Given the description of an element on the screen output the (x, y) to click on. 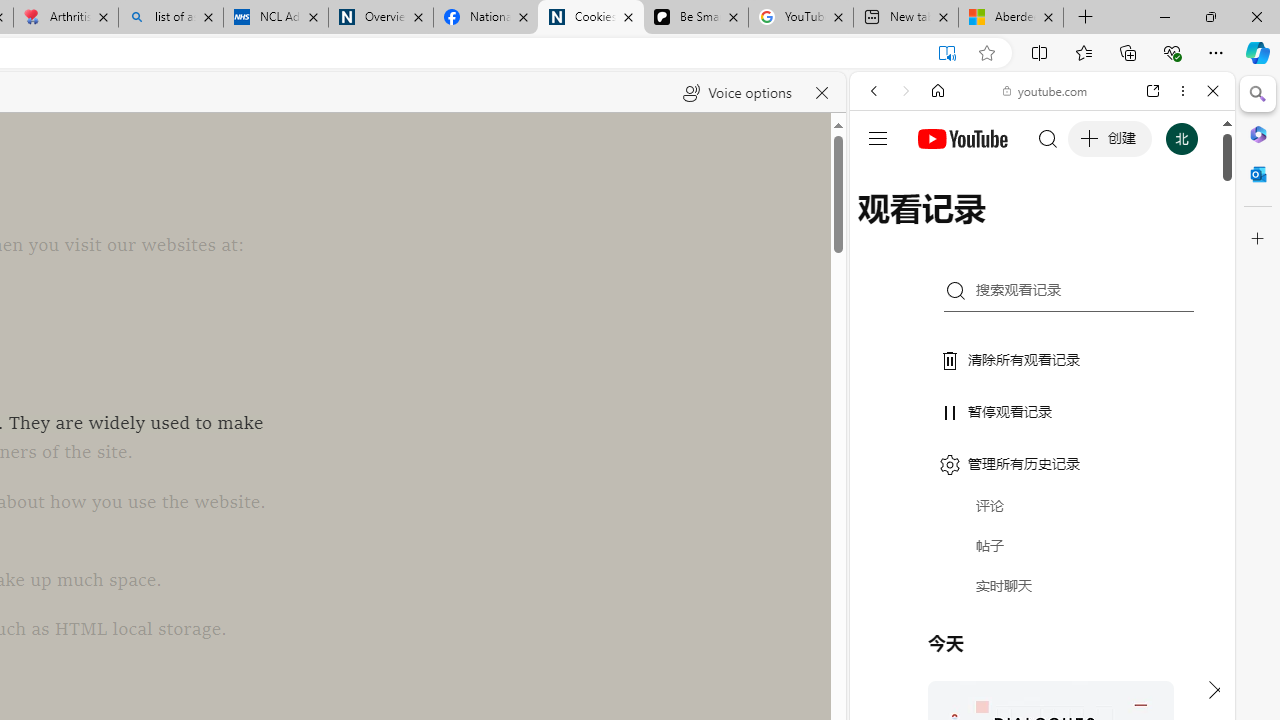
Search Filter, WEB (882, 228)
Be Smart | creating Science videos | Patreon (695, 17)
Search videos from youtube.com (1005, 657)
#you (1042, 445)
Preferences (1189, 228)
Music (1042, 543)
